Given the description of an element on the screen output the (x, y) to click on. 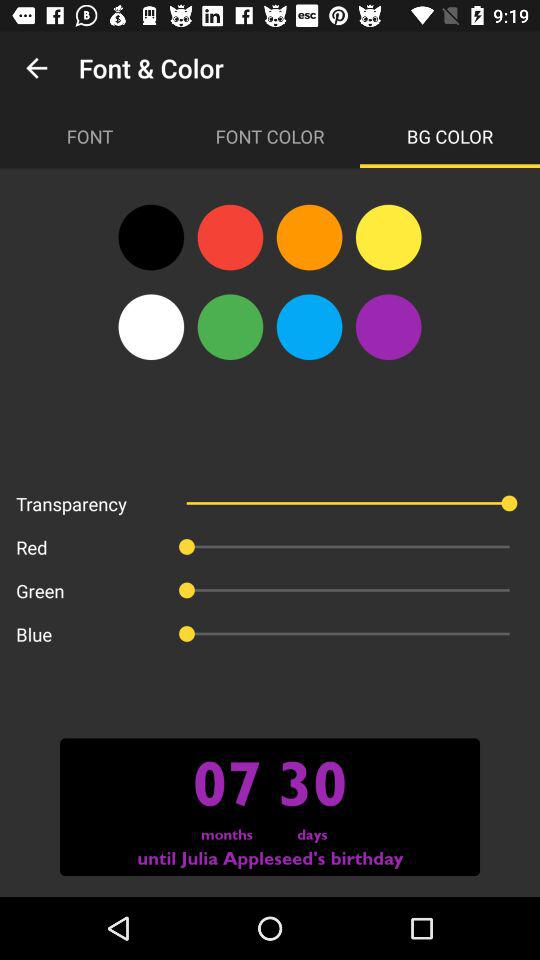
click the bg color icon (450, 136)
